Given the description of an element on the screen output the (x, y) to click on. 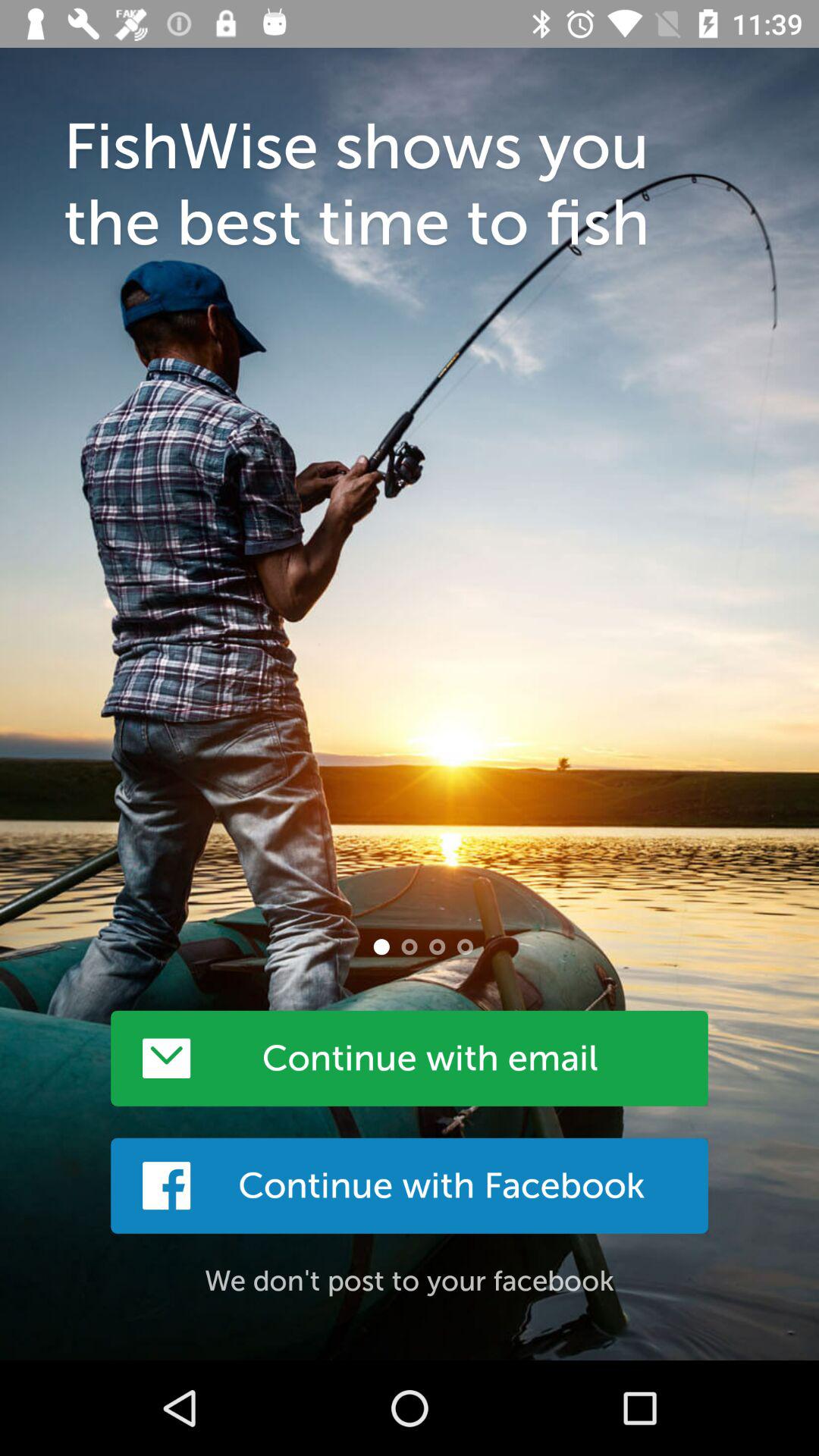
view forth page (465, 946)
